Given the description of an element on the screen output the (x, y) to click on. 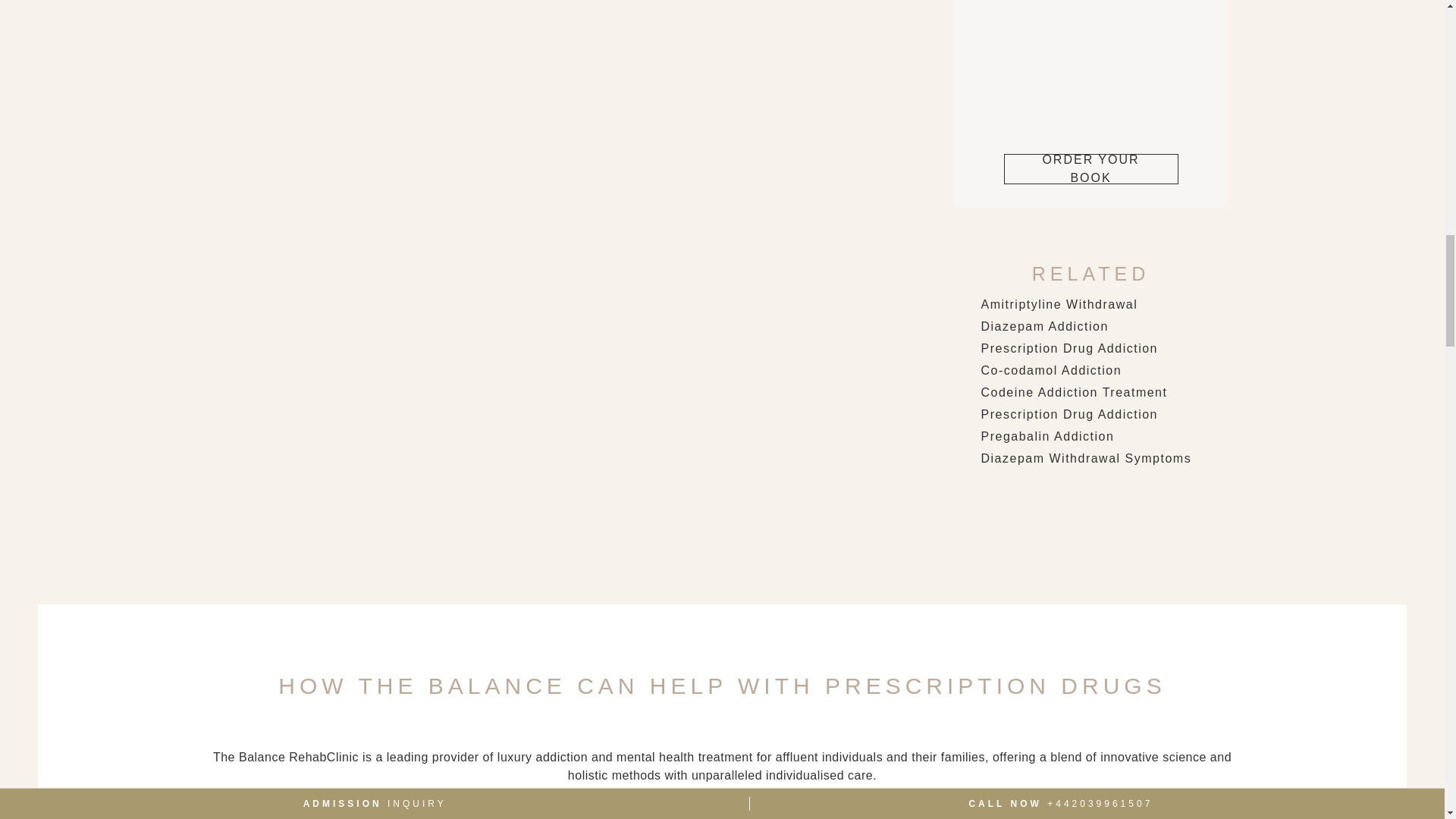
THE BALANCE Yacht (1090, 64)
Diazepam Addiction (1044, 326)
Prescription Drug Addiction (1069, 348)
Co-codamol Addiction (1051, 369)
Codeine Addiction Treatment (1074, 391)
Amitriptyline Withdrawal (1059, 304)
